Given the description of an element on the screen output the (x, y) to click on. 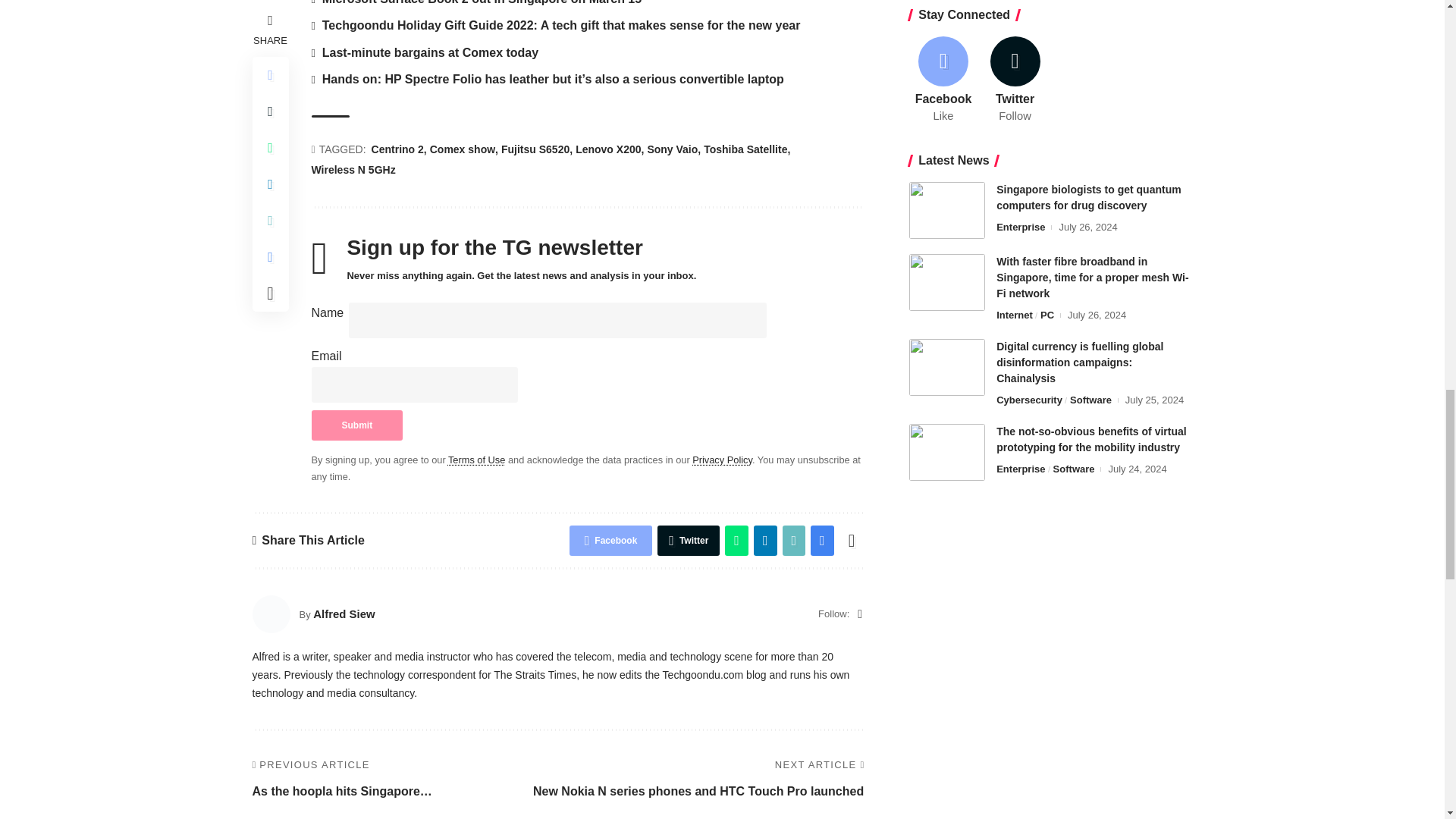
Submit (357, 425)
